Given the description of an element on the screen output the (x, y) to click on. 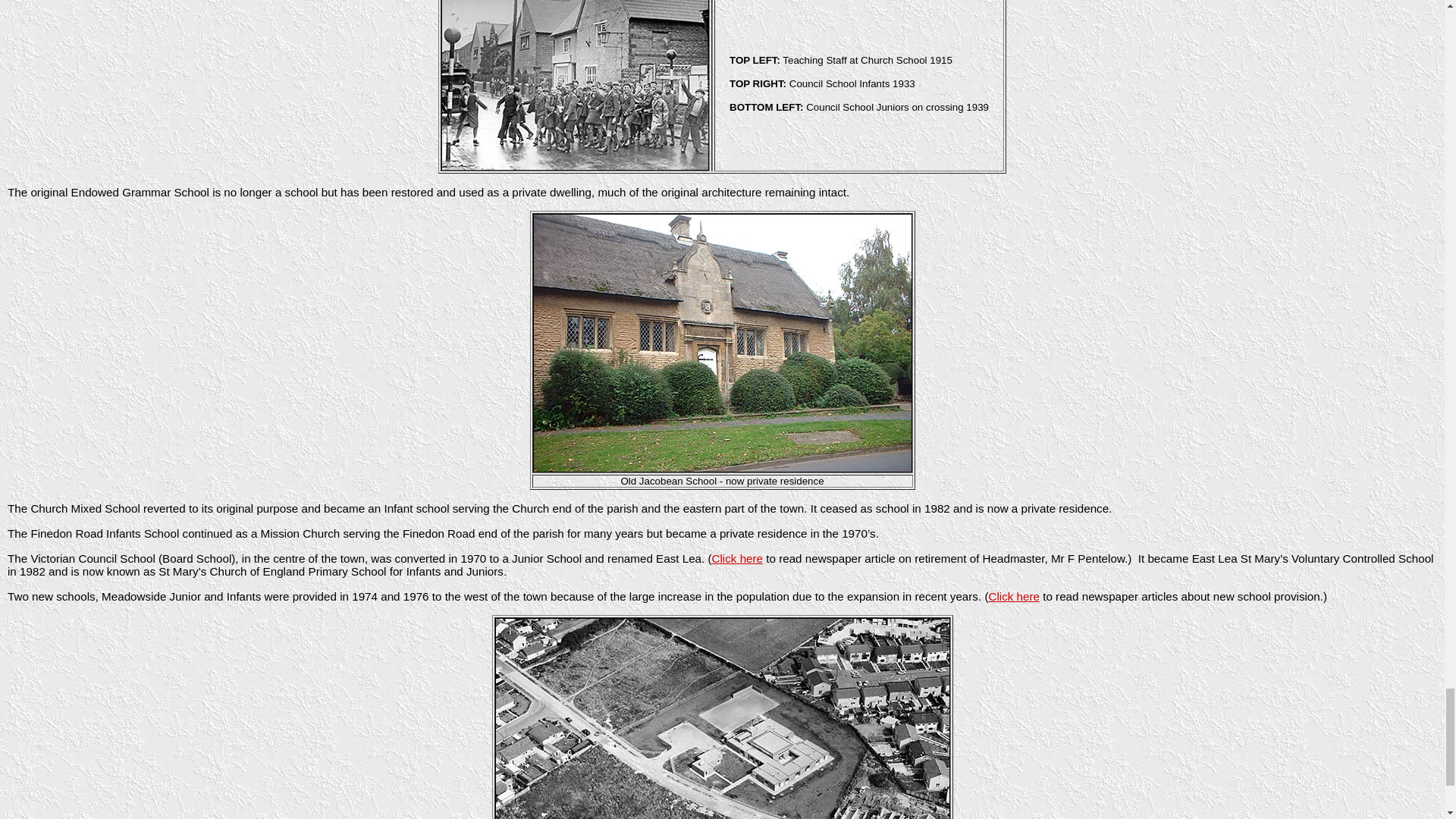
Click here (736, 558)
Click here (1013, 595)
